Given the description of an element on the screen output the (x, y) to click on. 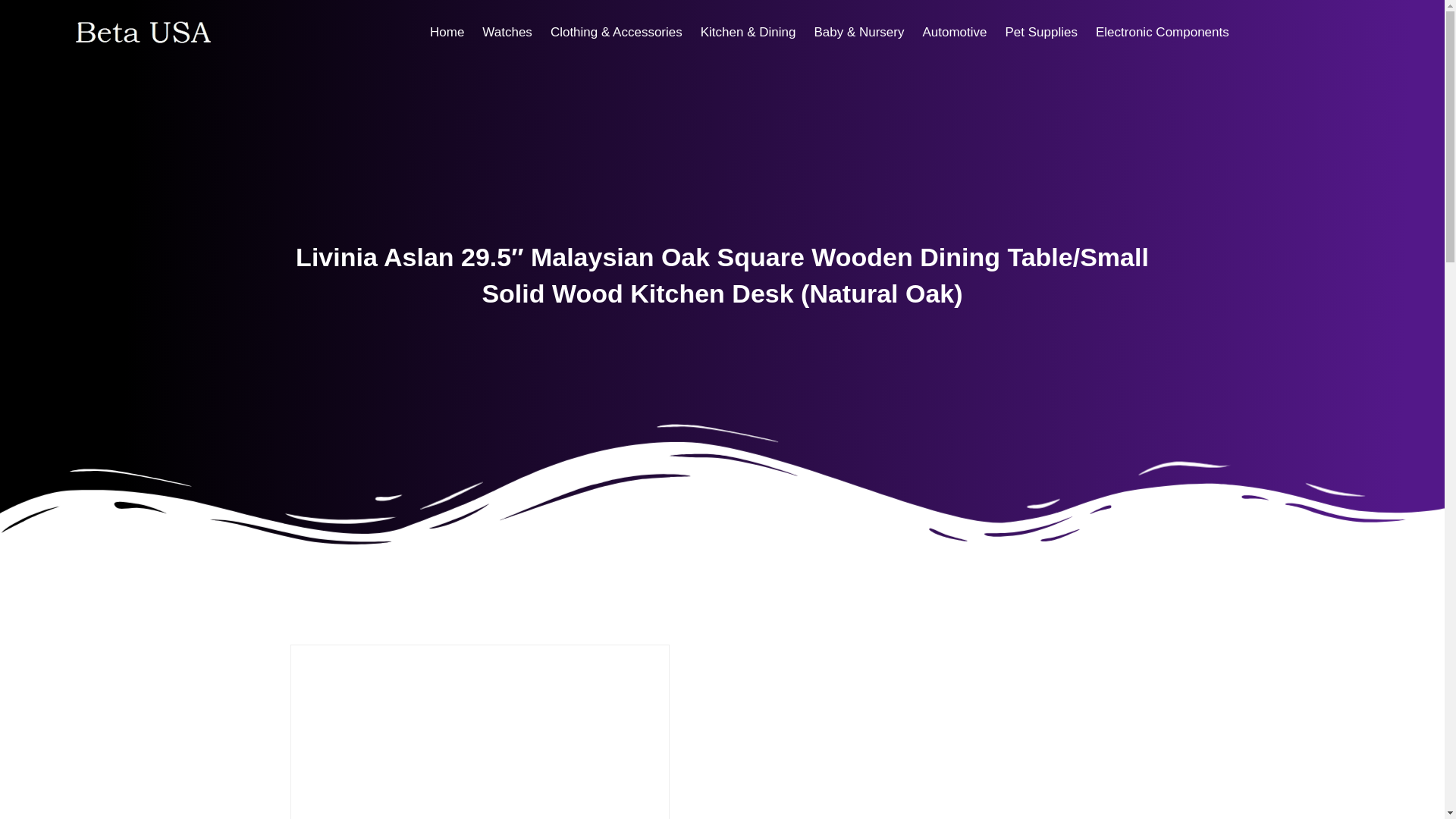
Electronic Components (1162, 32)
Pet Supplies (1040, 32)
Home (446, 32)
Watches (507, 32)
Automotive (953, 32)
